Given the description of an element on the screen output the (x, y) to click on. 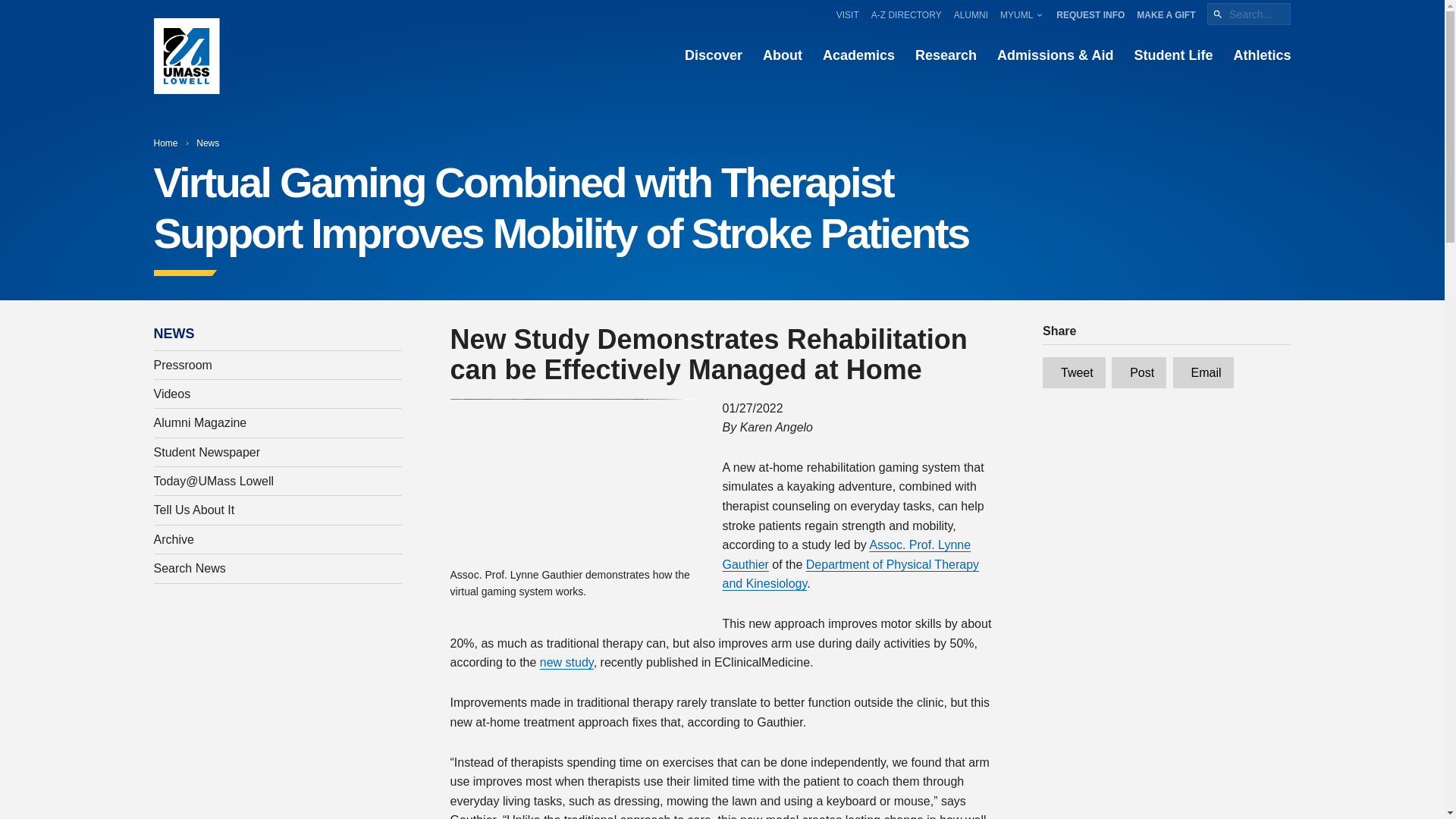
Make A Gift (1166, 14)
Pressroom (277, 364)
Request Info (1090, 14)
Gaming article (567, 662)
Visit (847, 14)
About (782, 55)
Lynne Gauthier bio (846, 554)
MYUML (1021, 14)
Tell Us About It (277, 510)
Athletics (1261, 55)
